Given the description of an element on the screen output the (x, y) to click on. 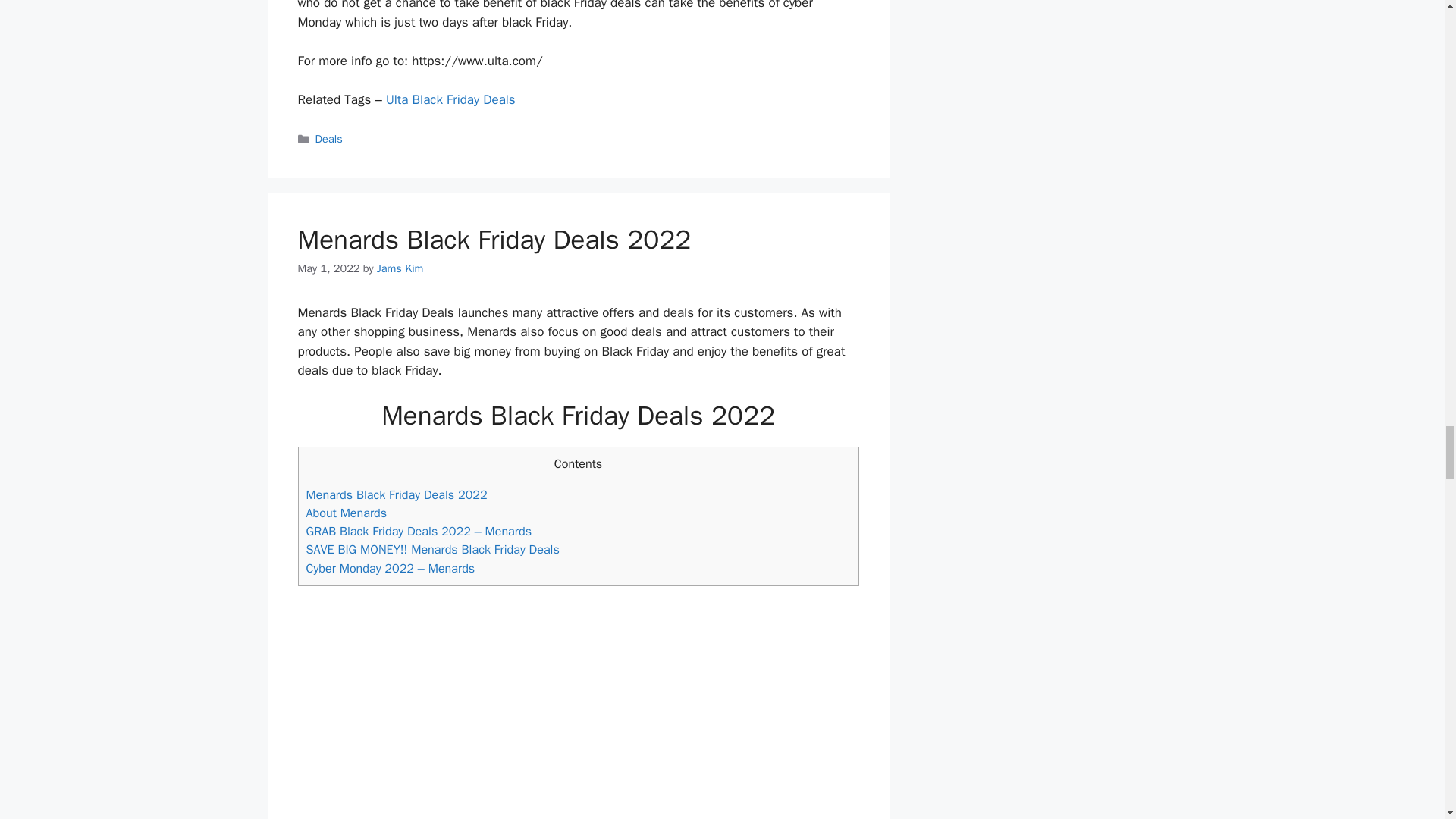
View all posts by Jams Kim (400, 268)
